Given the description of an element on the screen output the (x, y) to click on. 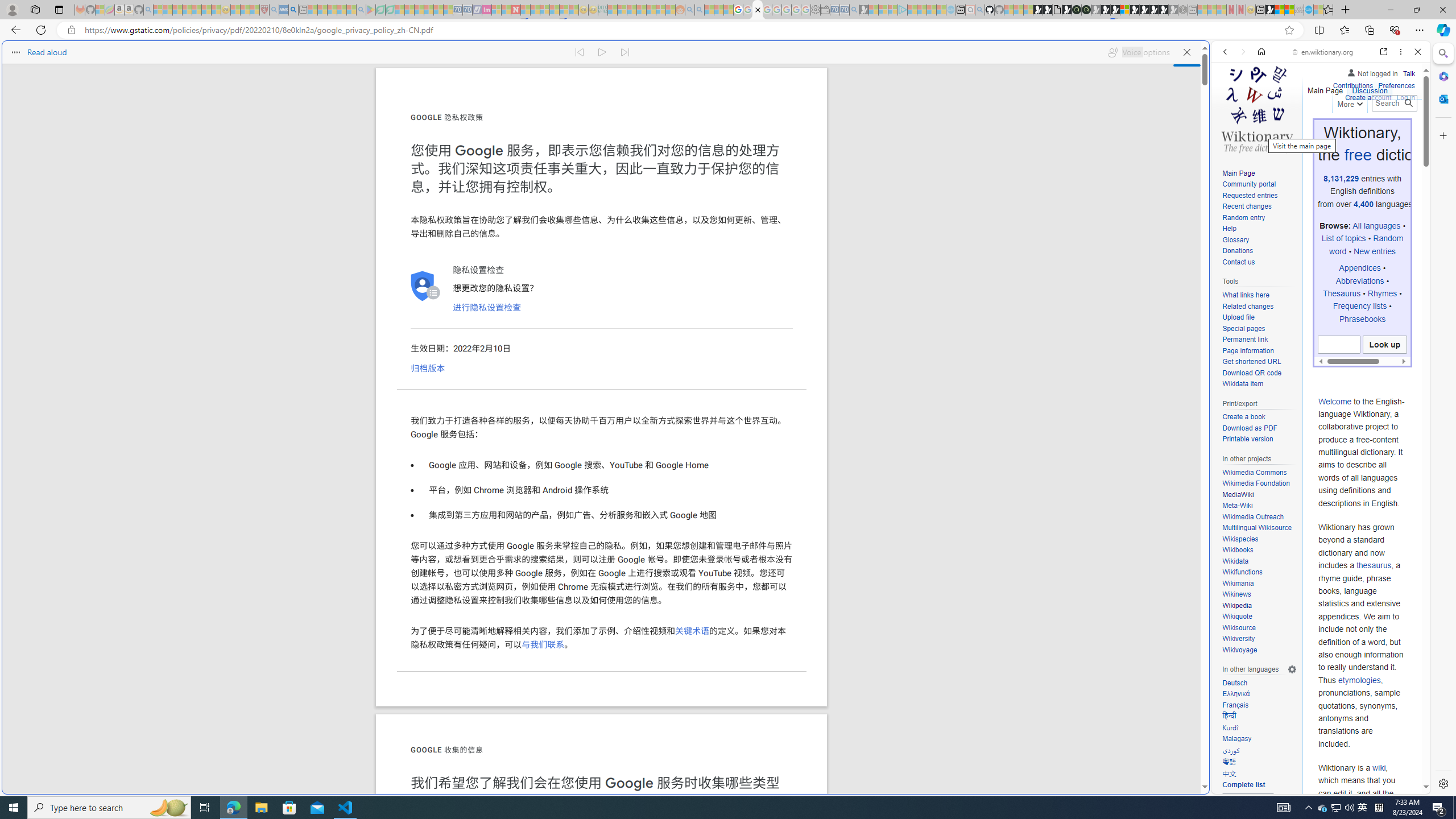
Wikifunctions (1241, 572)
Create account (1367, 96)
Wikimedia Foundation (1259, 483)
Wikispecies (1259, 539)
Go (1408, 102)
Earth has six continents not seven, radical new study claims (1288, 9)
etymologies (1359, 679)
